Given the description of an element on the screen output the (x, y) to click on. 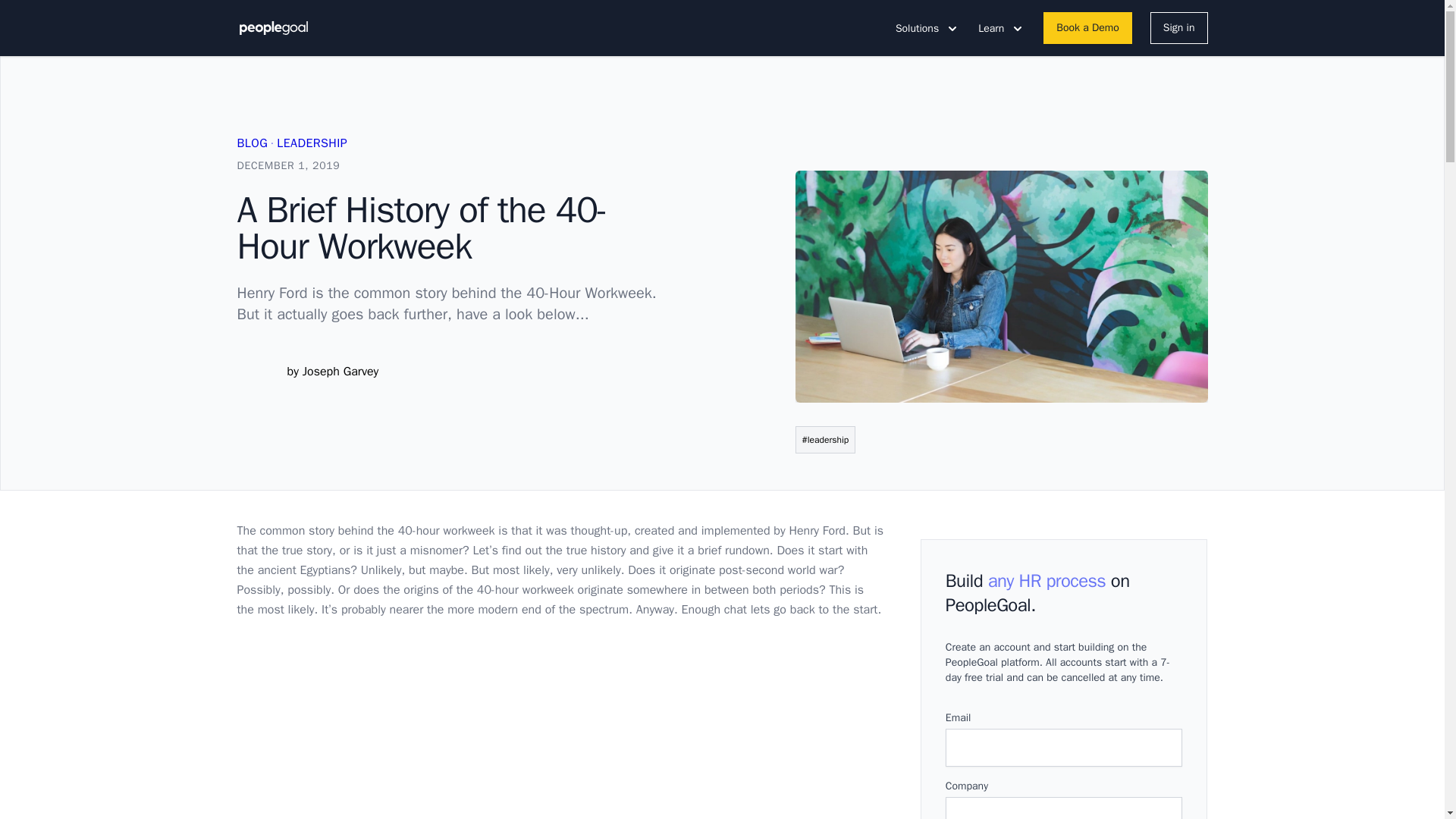
by Joseph Garvey (332, 371)
BLOG (251, 142)
Learn (1001, 28)
Solutions (927, 28)
LEADERSHIP (311, 142)
Book a Demo (1087, 28)
Sign in (1179, 28)
